Given the description of an element on the screen output the (x, y) to click on. 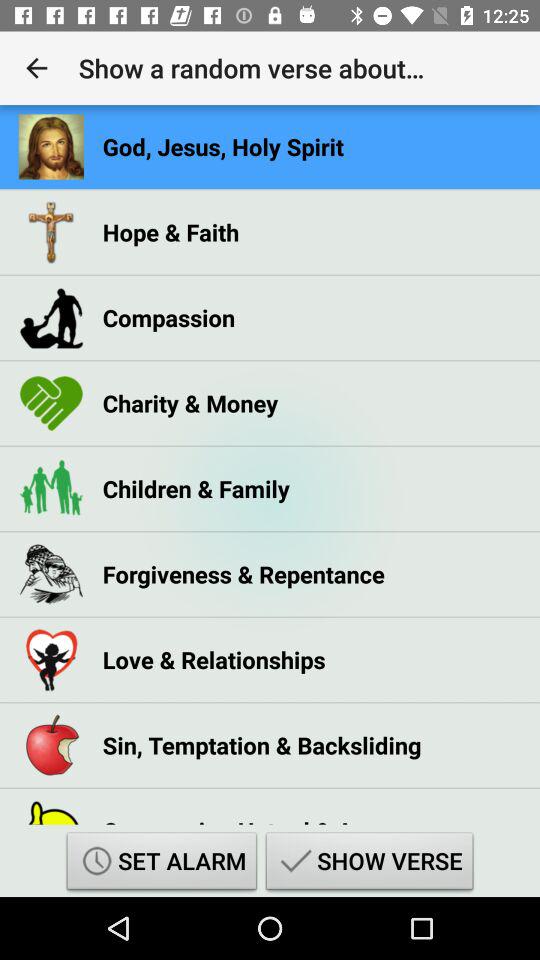
flip to sin, temptation & backsliding (261, 745)
